Given the description of an element on the screen output the (x, y) to click on. 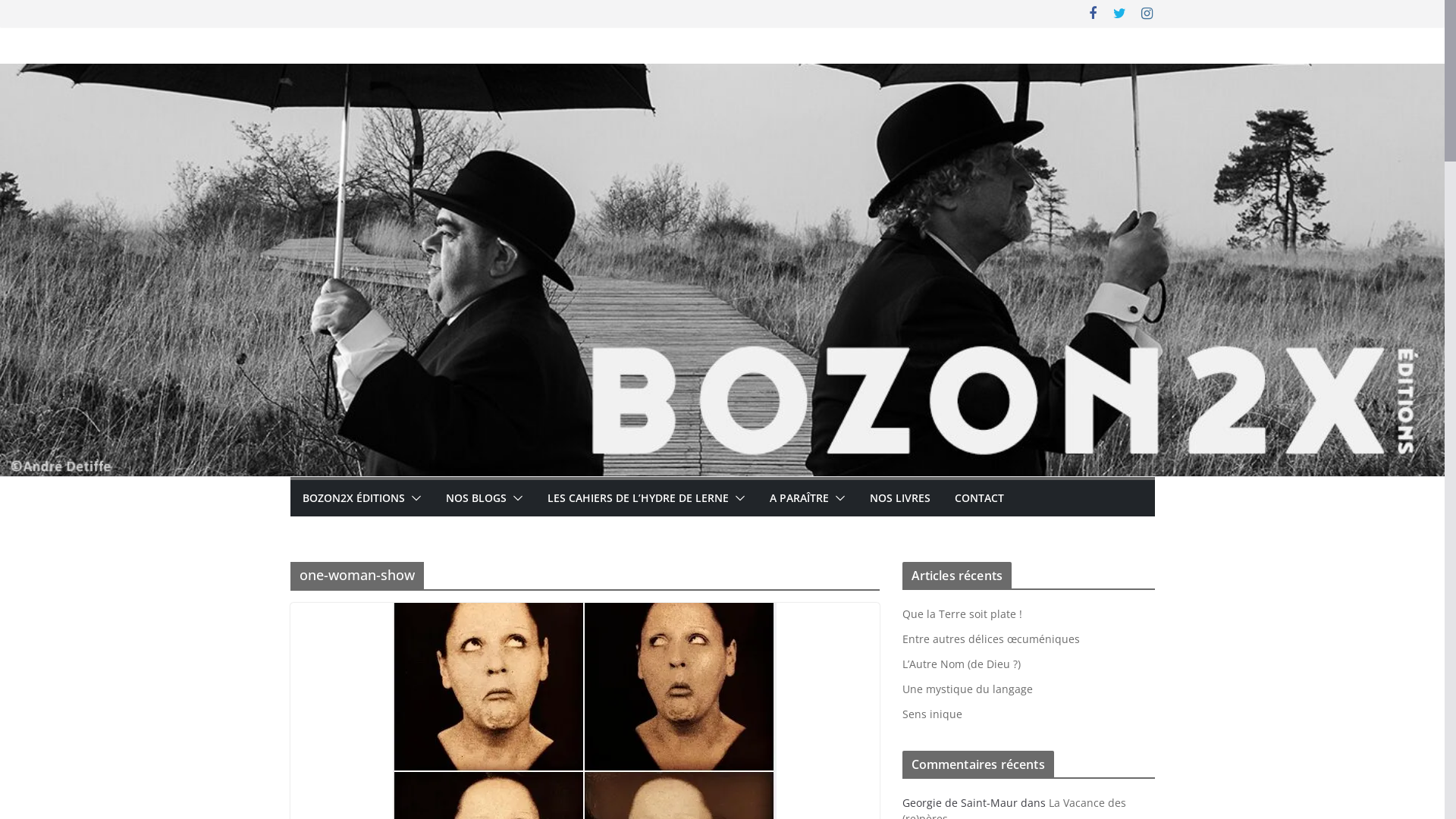
Que la Terre soit plate ! Element type: text (962, 613)
Sens inique Element type: text (932, 713)
NOS LIVRES Element type: text (899, 497)
CONTACT Element type: text (978, 497)
NOS BLOGS Element type: text (475, 497)
Une mystique du langage Element type: text (967, 688)
